Given the description of an element on the screen output the (x, y) to click on. 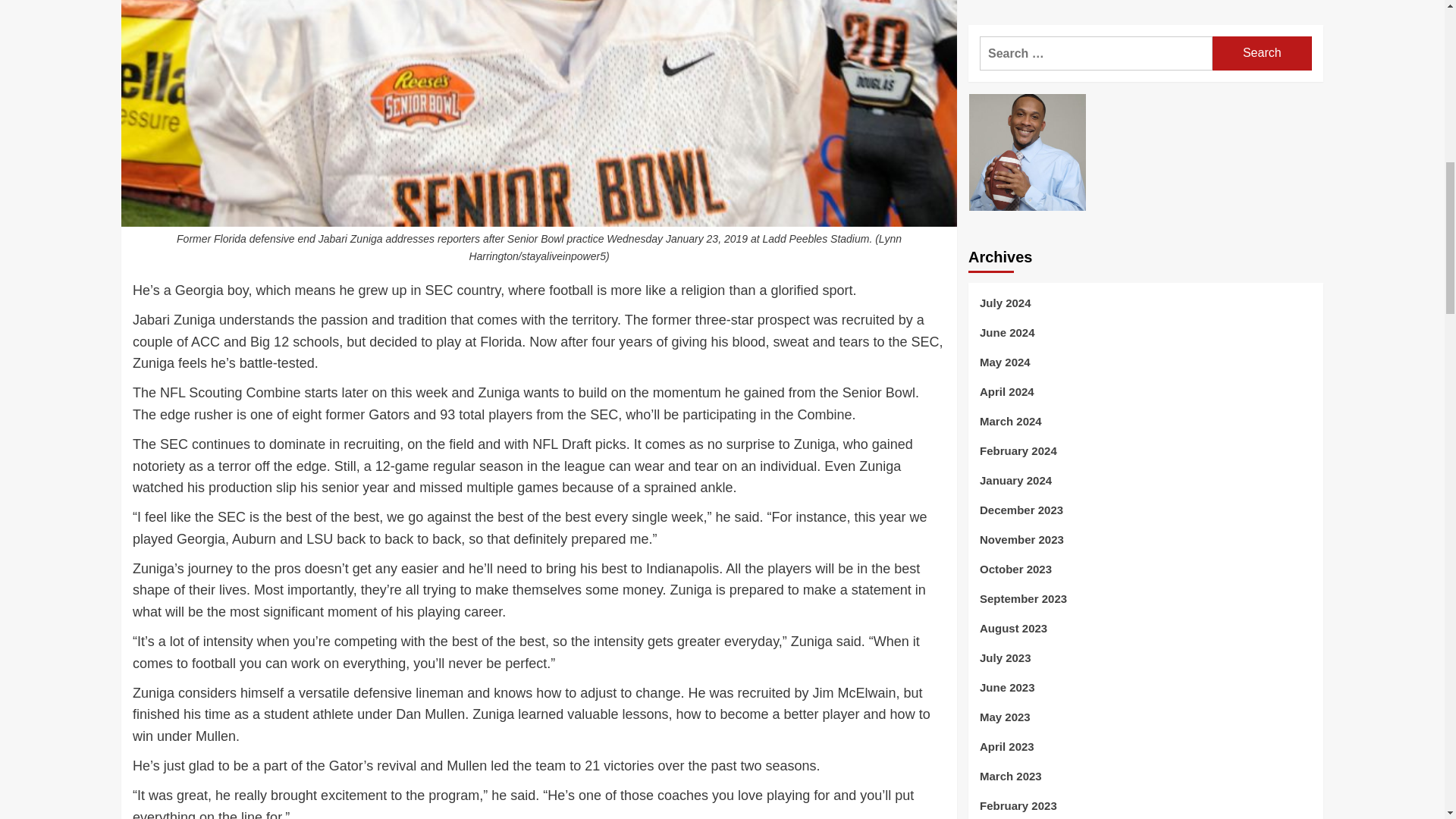
Search (1261, 53)
Search (1261, 53)
